Given the description of an element on the screen output the (x, y) to click on. 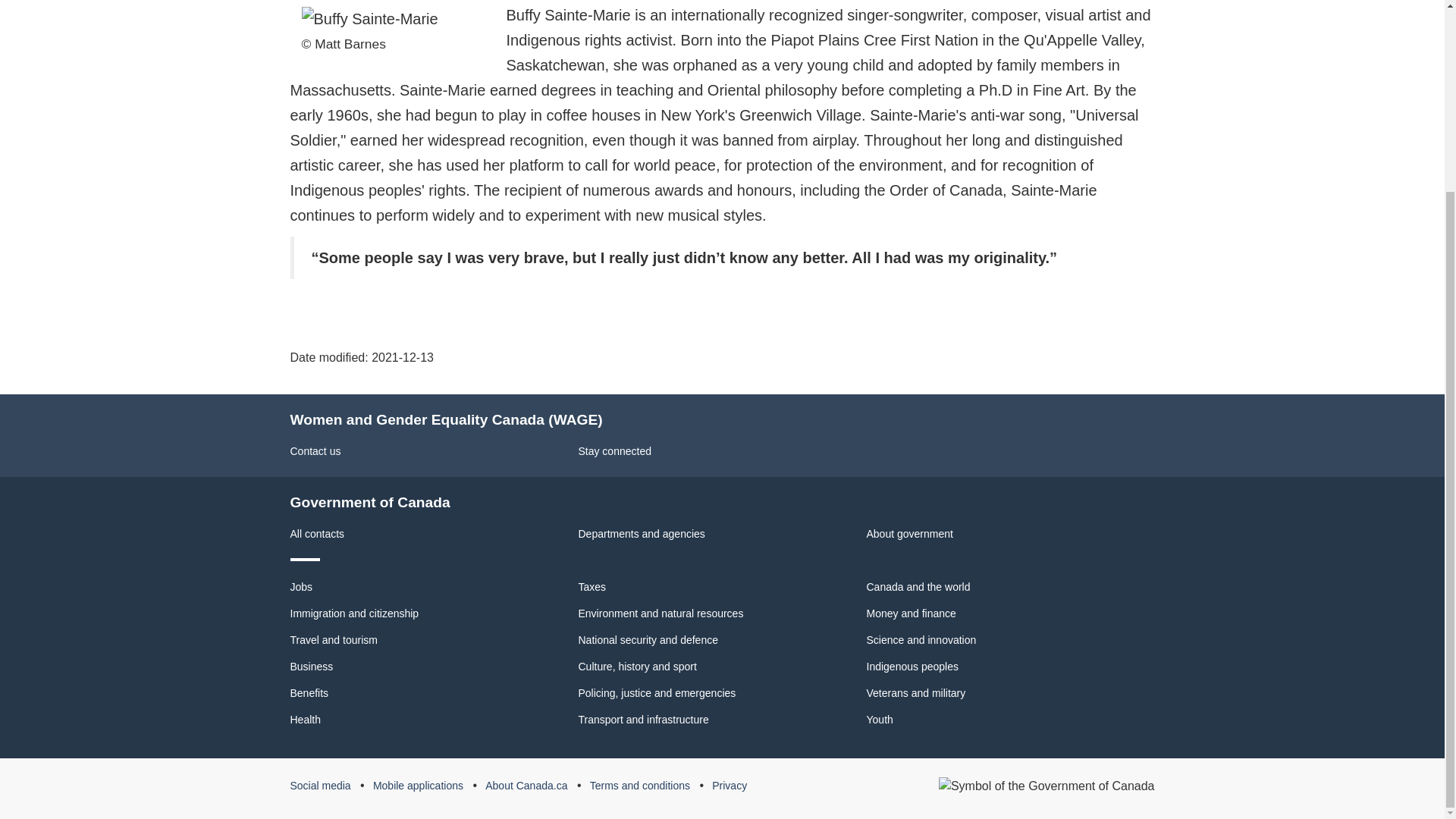
Business (311, 666)
Stay connected (614, 451)
Immigration and citizenship (354, 613)
Environment and natural resources (660, 613)
All contacts (316, 533)
Travel and tourism (333, 639)
Health (304, 719)
About government (909, 533)
Departments and agencies (641, 533)
Contact us (314, 451)
